Given the description of an element on the screen output the (x, y) to click on. 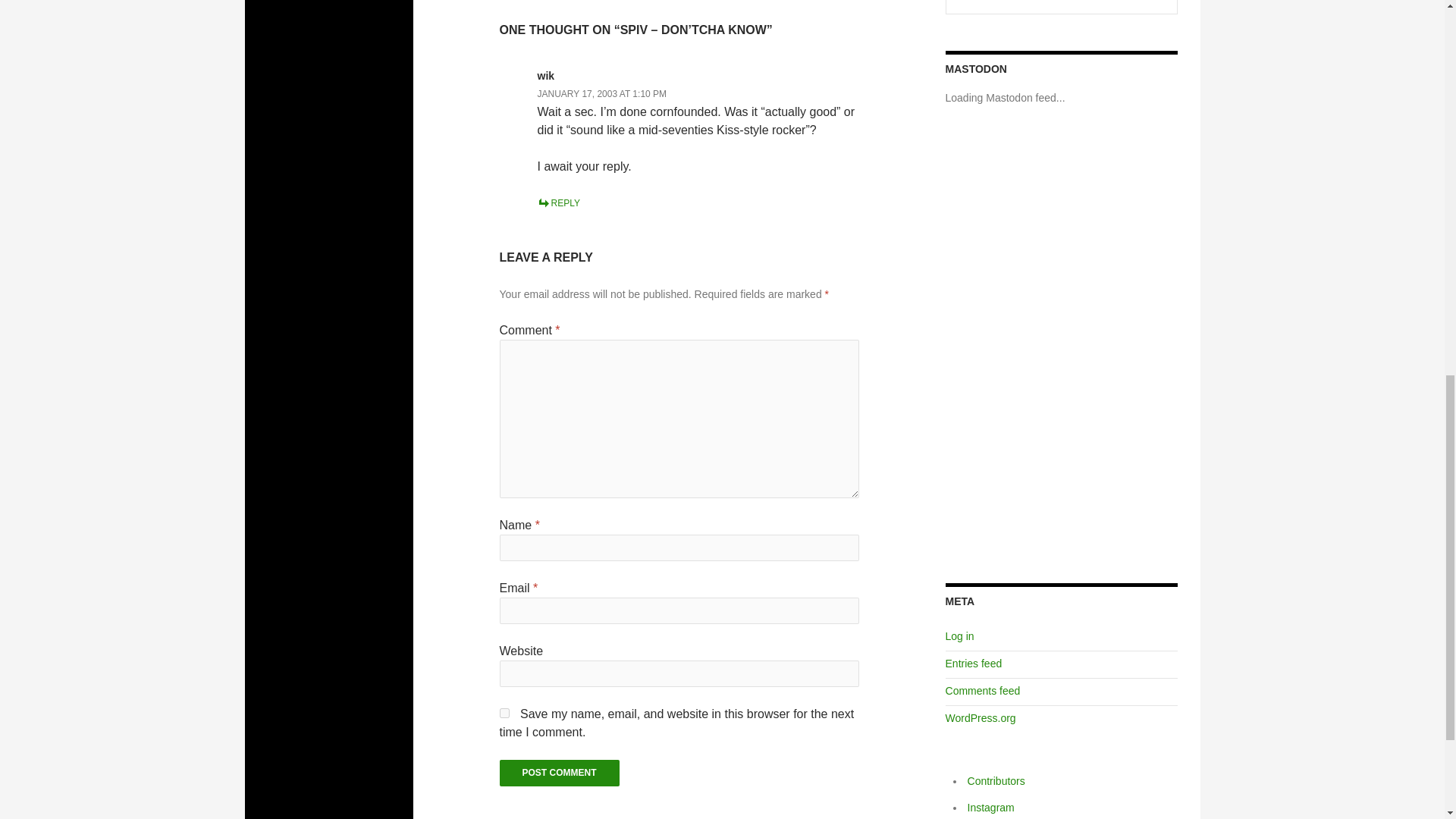
Post Comment (559, 773)
Post Comment (559, 773)
yes (504, 713)
JANUARY 17, 2003 AT 1:10 PM (601, 93)
REPLY (558, 203)
